Given the description of an element on the screen output the (x, y) to click on. 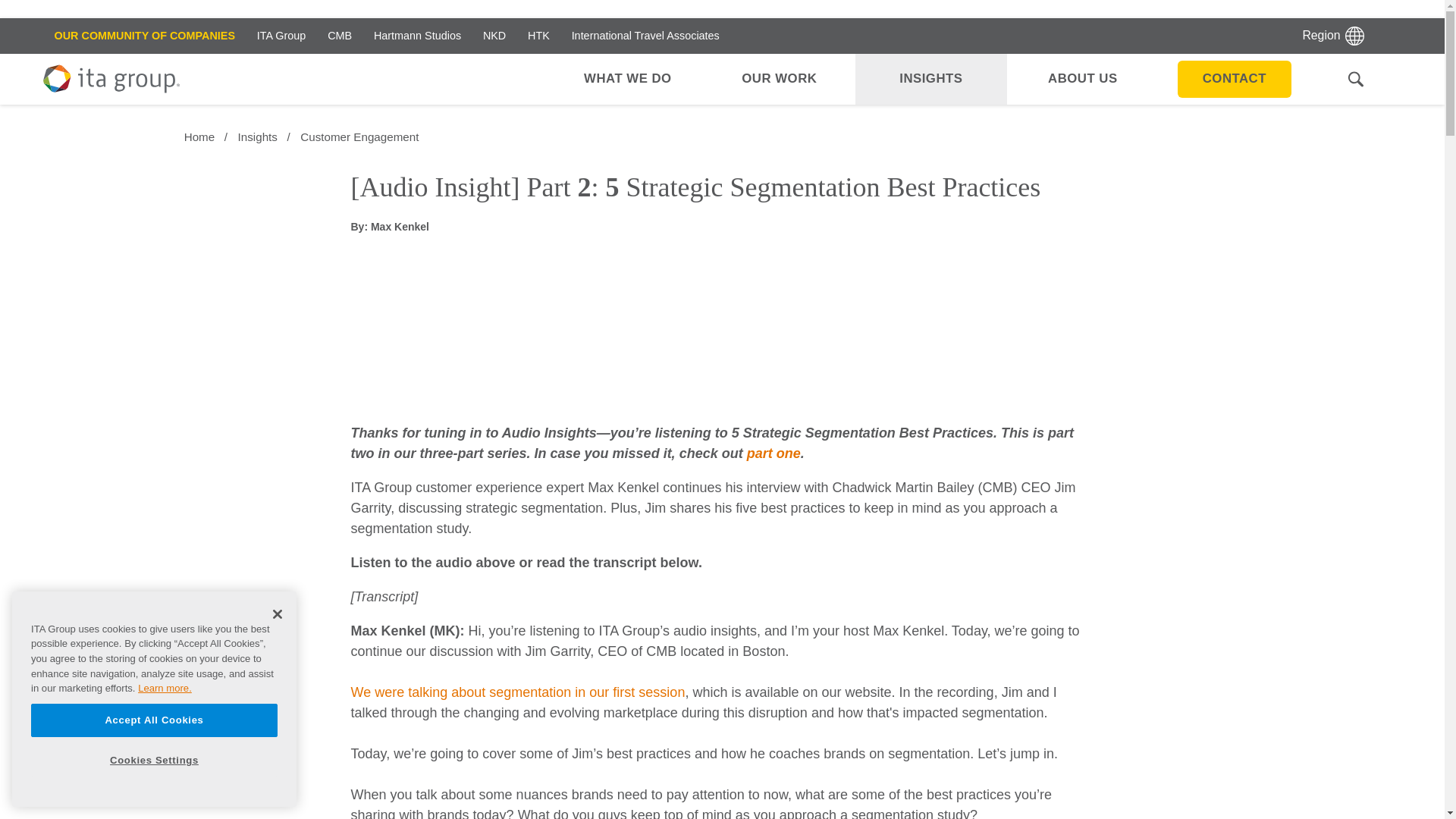
NKD (493, 35)
CMB (339, 35)
ITA Group (280, 35)
WHAT WE DO (627, 79)
Select Your Region (1332, 36)
The Value of Strategic Segmentation (773, 453)
ITA Group. Link to homepage (111, 79)
Region (1332, 36)
International Travel Associates (645, 35)
Hartmann Studios (416, 35)
HTK (538, 35)
